Given the description of an element on the screen output the (x, y) to click on. 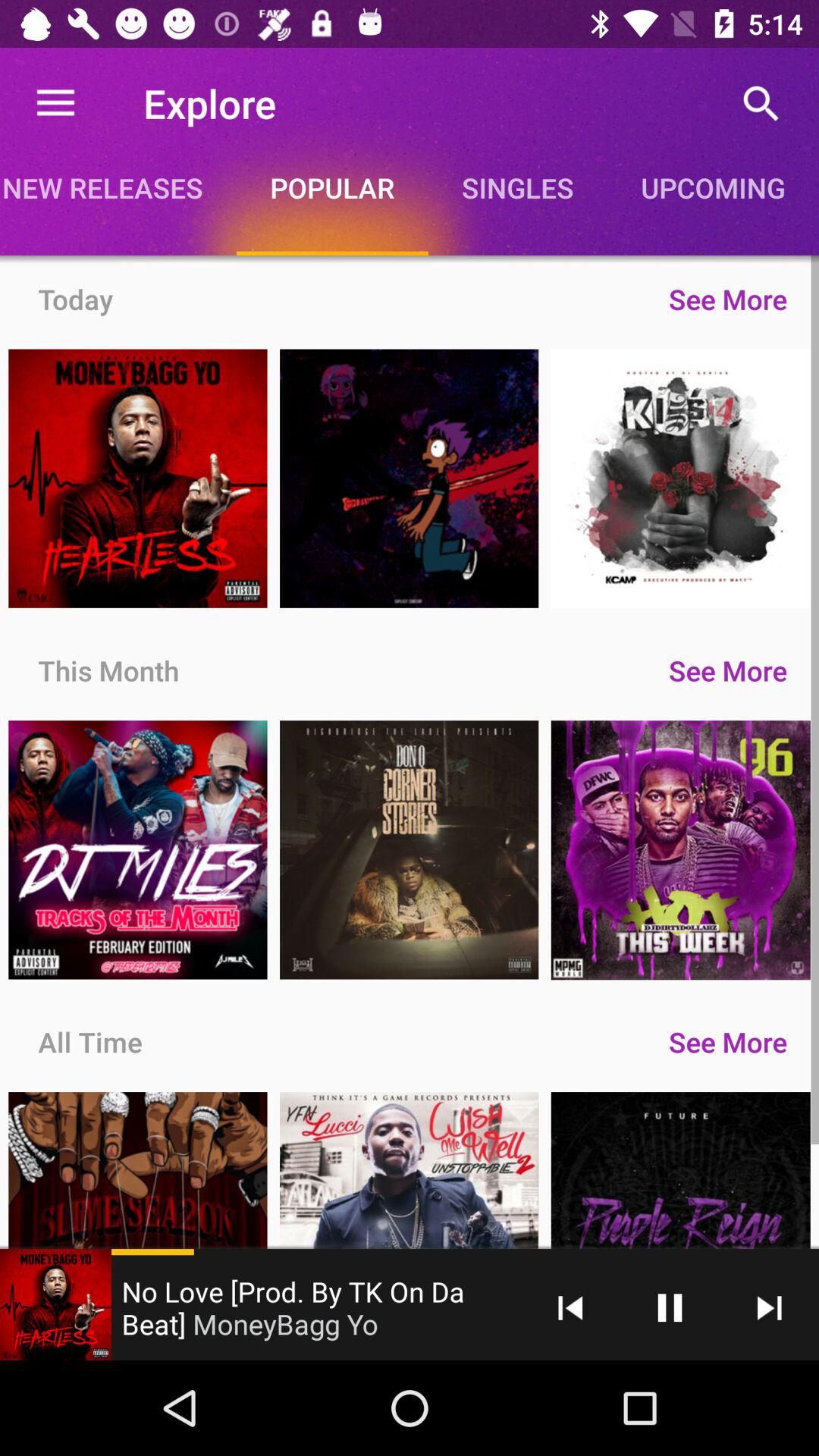
click the app to the right of the singles item (713, 187)
